Given the description of an element on the screen output the (x, y) to click on. 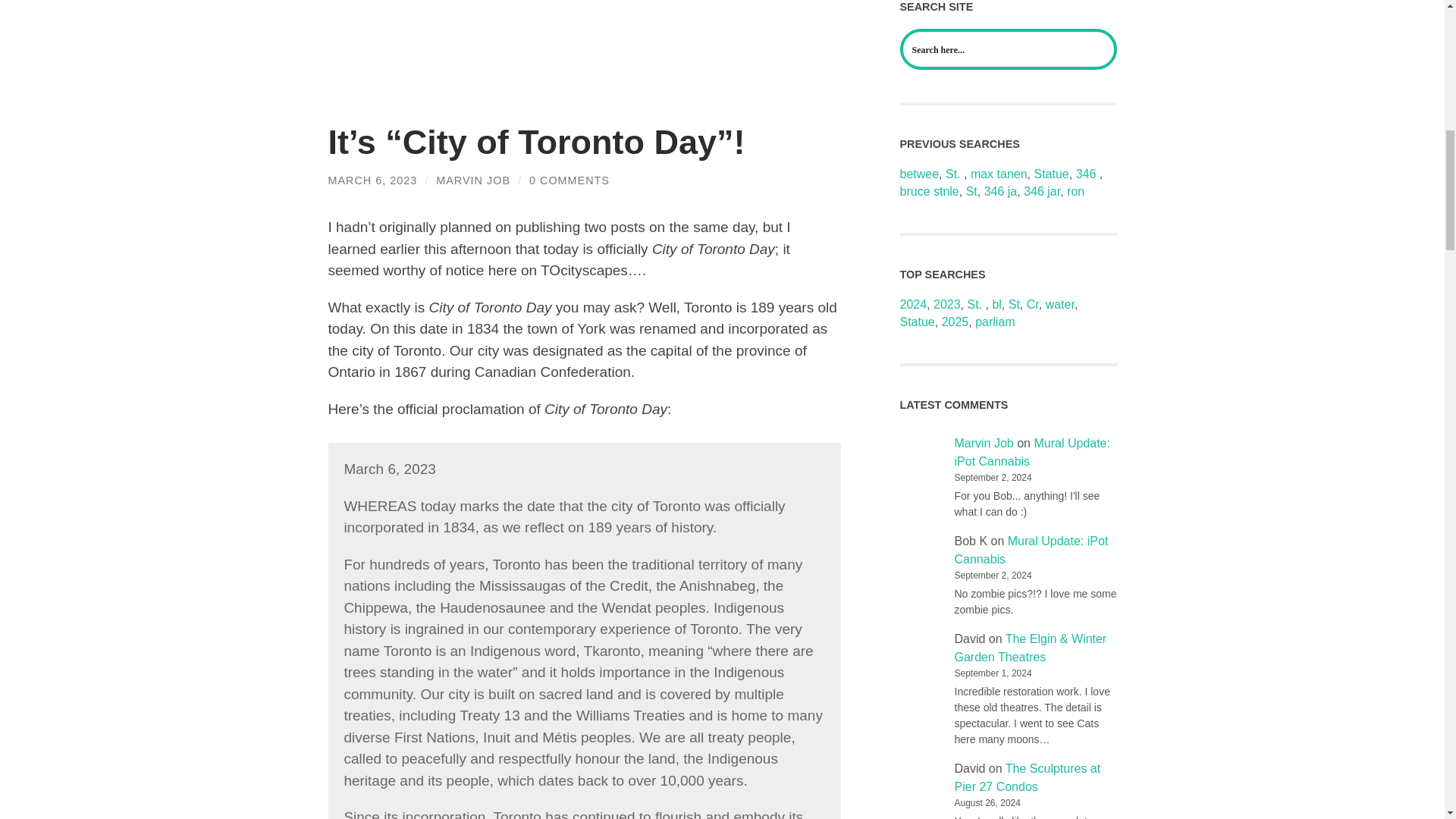
MARCH 6, 2023 (371, 180)
0 COMMENTS (569, 180)
Posts by Marvin Job (473, 180)
MARVIN JOB (473, 180)
